Given the description of an element on the screen output the (x, y) to click on. 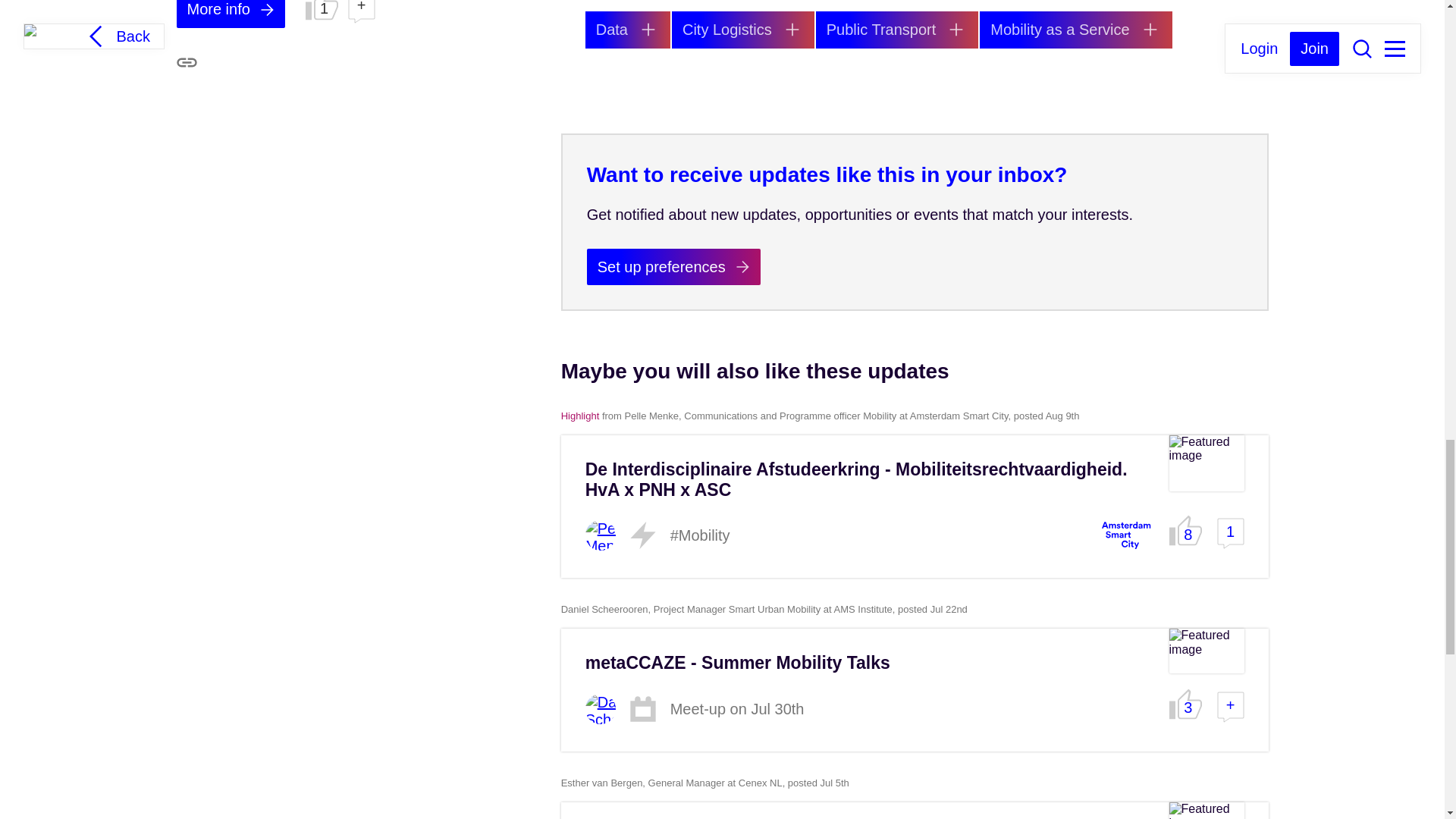
View updates (1075, 29)
Data (627, 29)
City Logistics (742, 29)
Follow (791, 29)
View updates (742, 29)
metaCCAZE - Summer Mobility Talks (737, 662)
Follow (648, 29)
Mobility as a Service (1075, 29)
Follow (1149, 29)
